Given the description of an element on the screen output the (x, y) to click on. 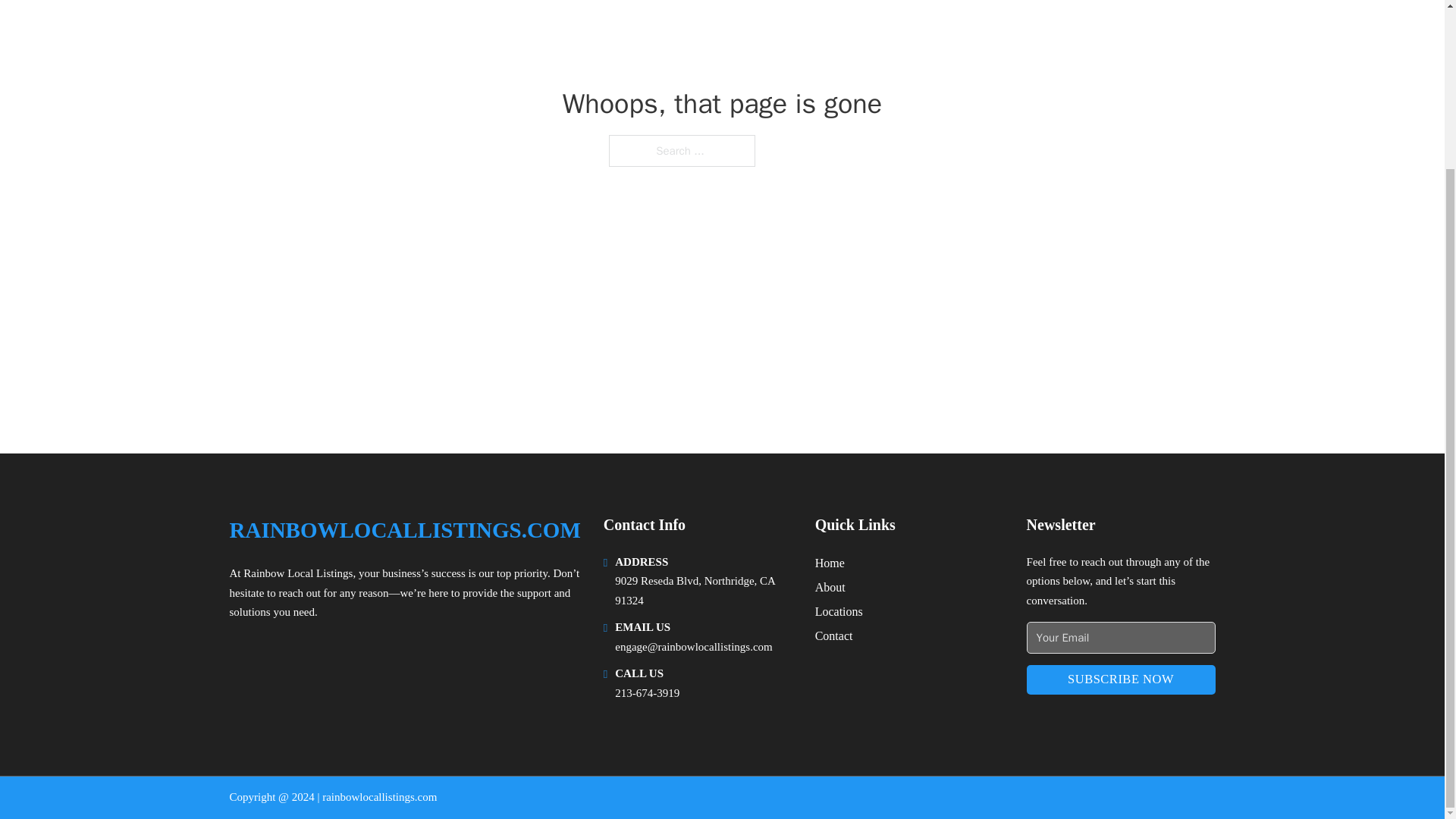
RAINBOWLOCALLISTINGS.COM (403, 529)
Contact (834, 635)
SUBSCRIBE NOW (1120, 679)
213-674-3919 (646, 693)
About (830, 587)
Locations (839, 611)
Home (829, 562)
